Given the description of an element on the screen output the (x, y) to click on. 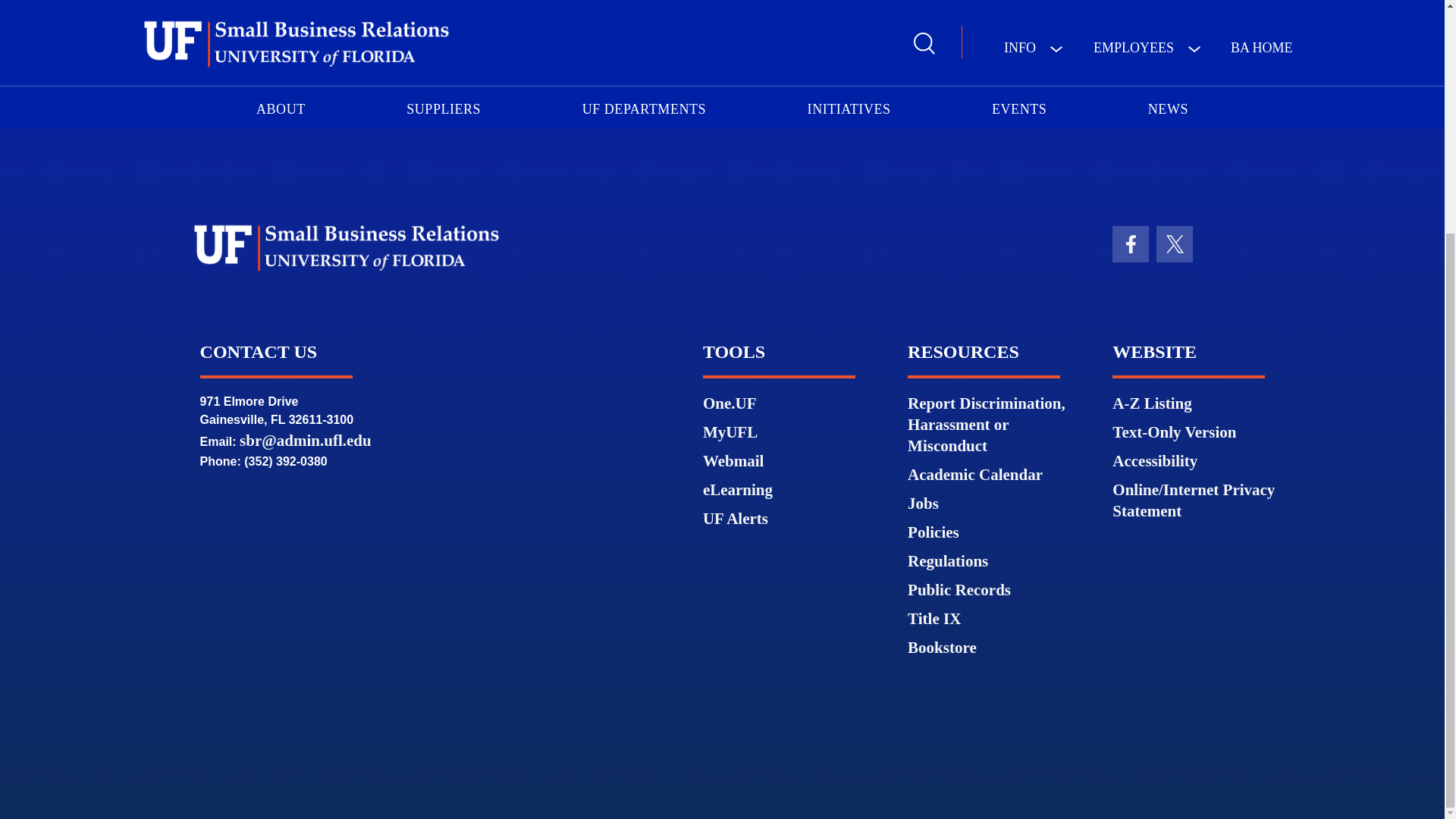
school-logo (346, 247)
